Given the description of an element on the screen output the (x, y) to click on. 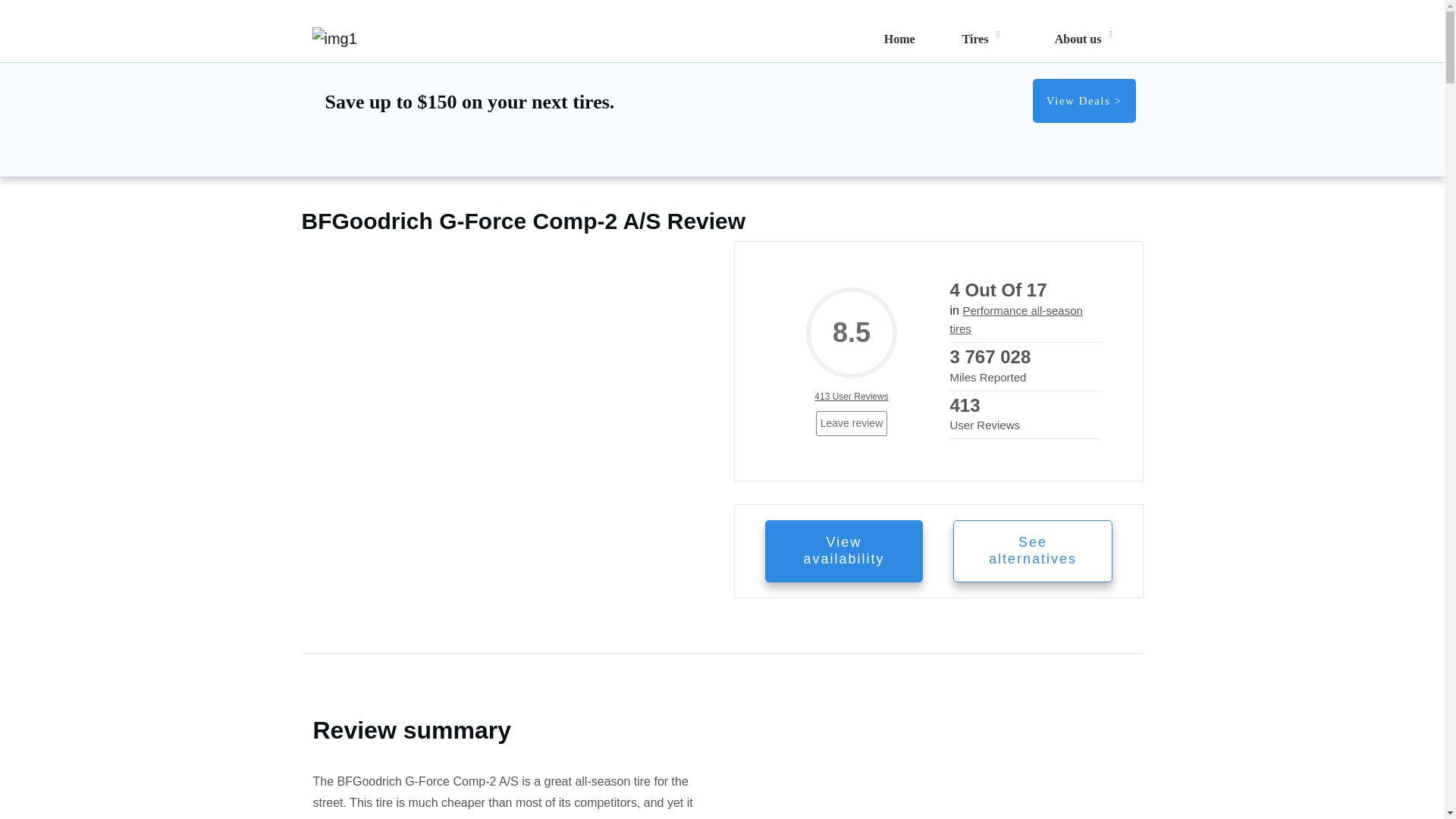
Home (899, 38)
View availability (843, 550)
Leave review (851, 423)
Performance all-season tires (1015, 318)
See alternatives (1032, 550)
About us (1077, 38)
Tires (975, 38)
